Given the description of an element on the screen output the (x, y) to click on. 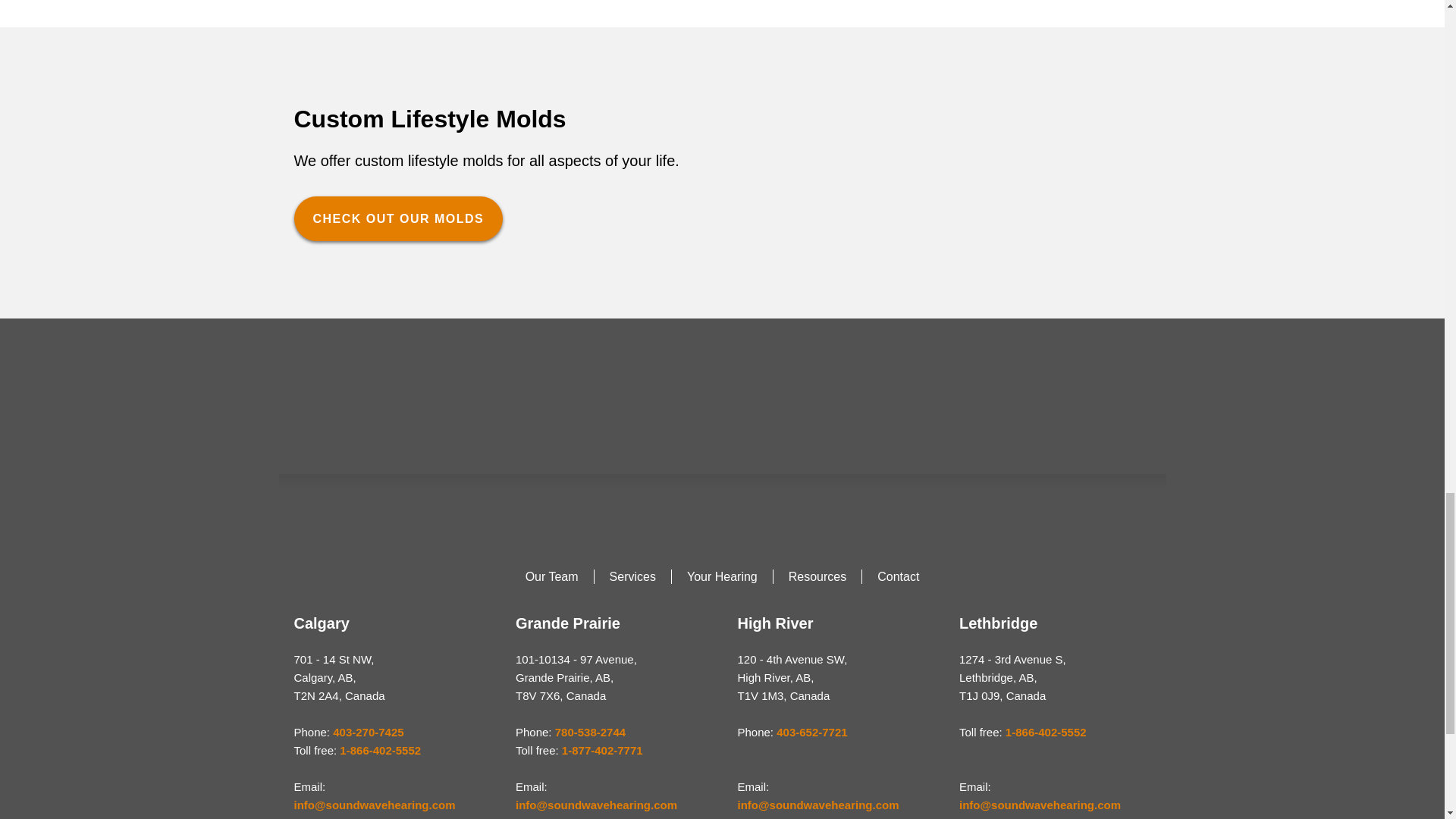
Soundwave Hearing Centre (721, 388)
